Given the description of an element on the screen output the (x, y) to click on. 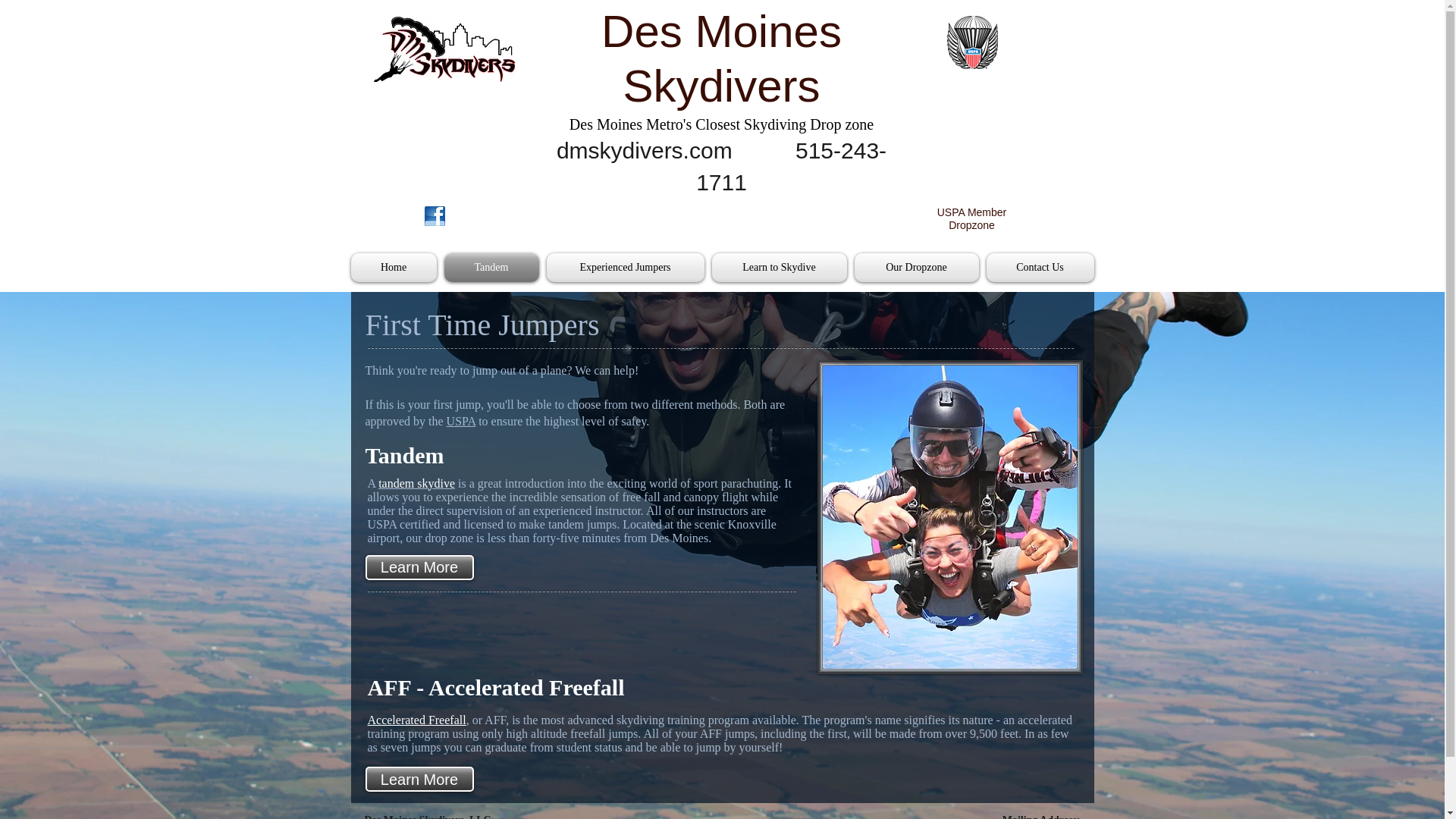
tandem skydive (416, 482)
Check out our Facebook page! (435, 216)
Home (394, 267)
Experienced Jumpers (625, 267)
Learn More (419, 567)
Learn More (419, 778)
Tandem (490, 267)
Contact Us (1038, 267)
USPA (461, 420)
Our Dropzone (916, 267)
